Given the description of an element on the screen output the (x, y) to click on. 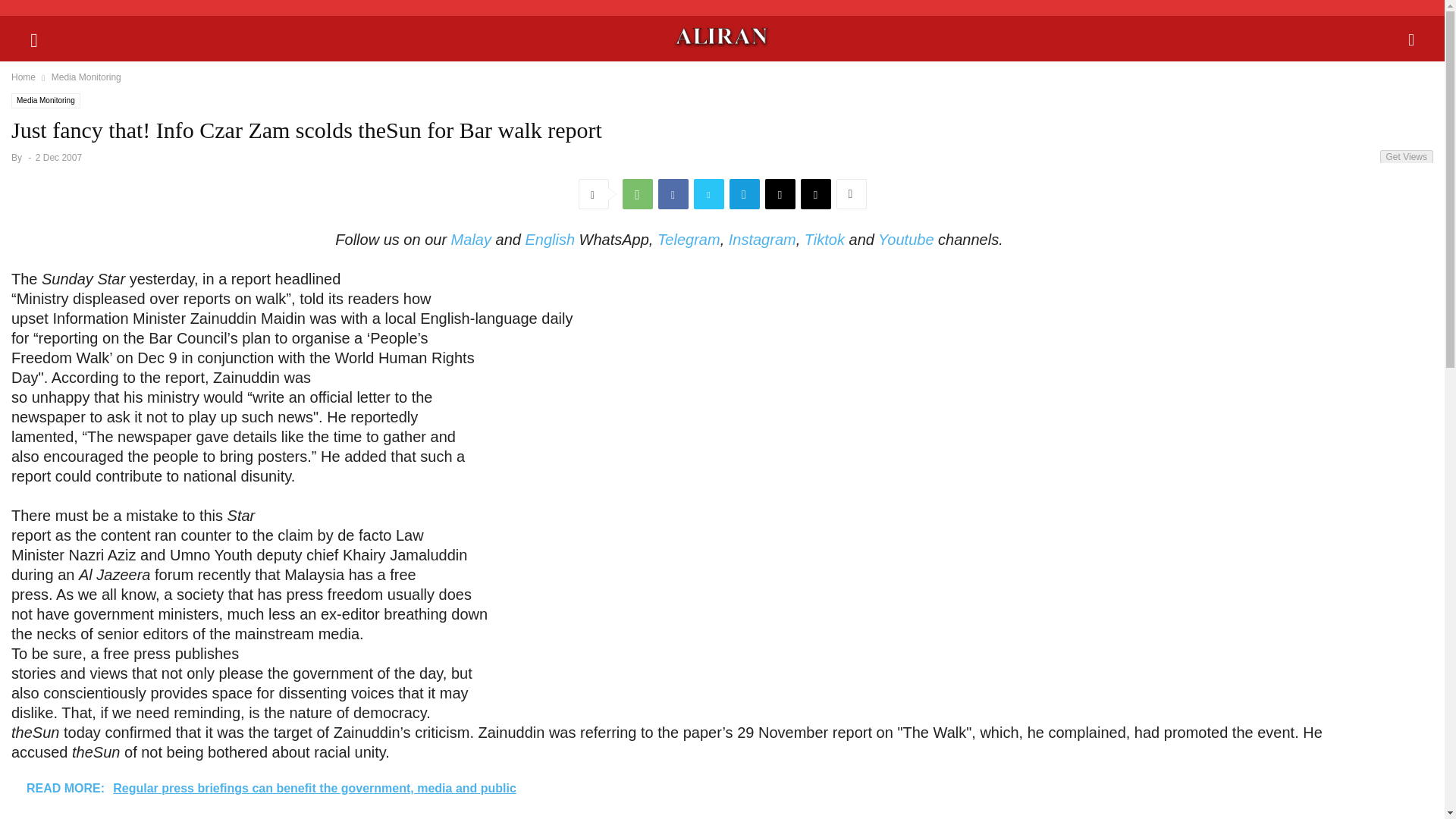
English (549, 239)
Media Monitoring (45, 100)
Search (26, 11)
Get Views (1406, 156)
WhatsApp (636, 194)
Telegram (744, 194)
Telegram (689, 239)
Twitter (708, 194)
Malay (471, 239)
Media Monitoring (85, 77)
